Given the description of an element on the screen output the (x, y) to click on. 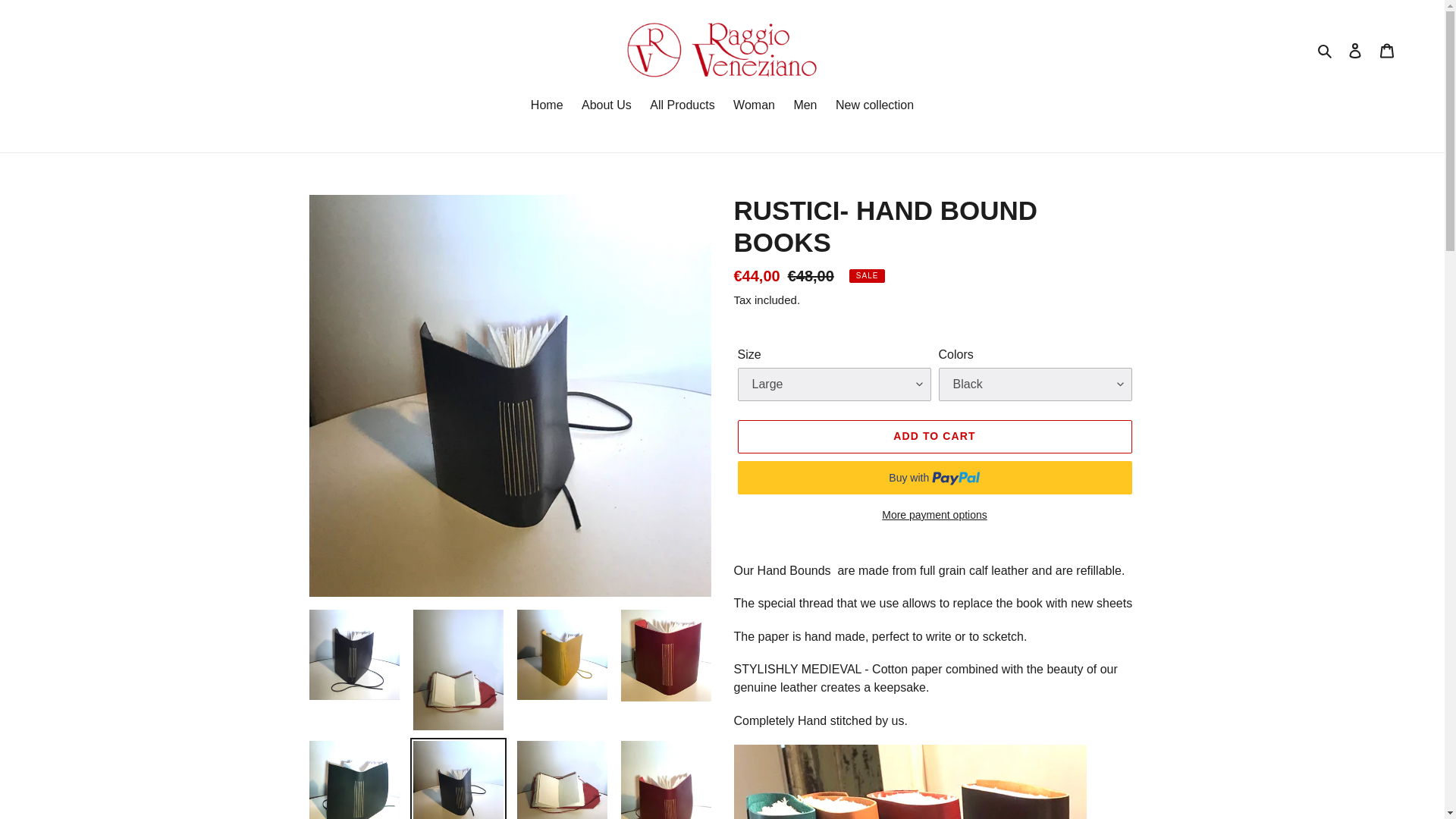
Log in (1355, 49)
Search (1326, 49)
All Products (682, 106)
Home (546, 106)
Men (805, 106)
Cart (1387, 49)
New collection (874, 106)
About Us (606, 106)
Woman (754, 106)
